Given the description of an element on the screen output the (x, y) to click on. 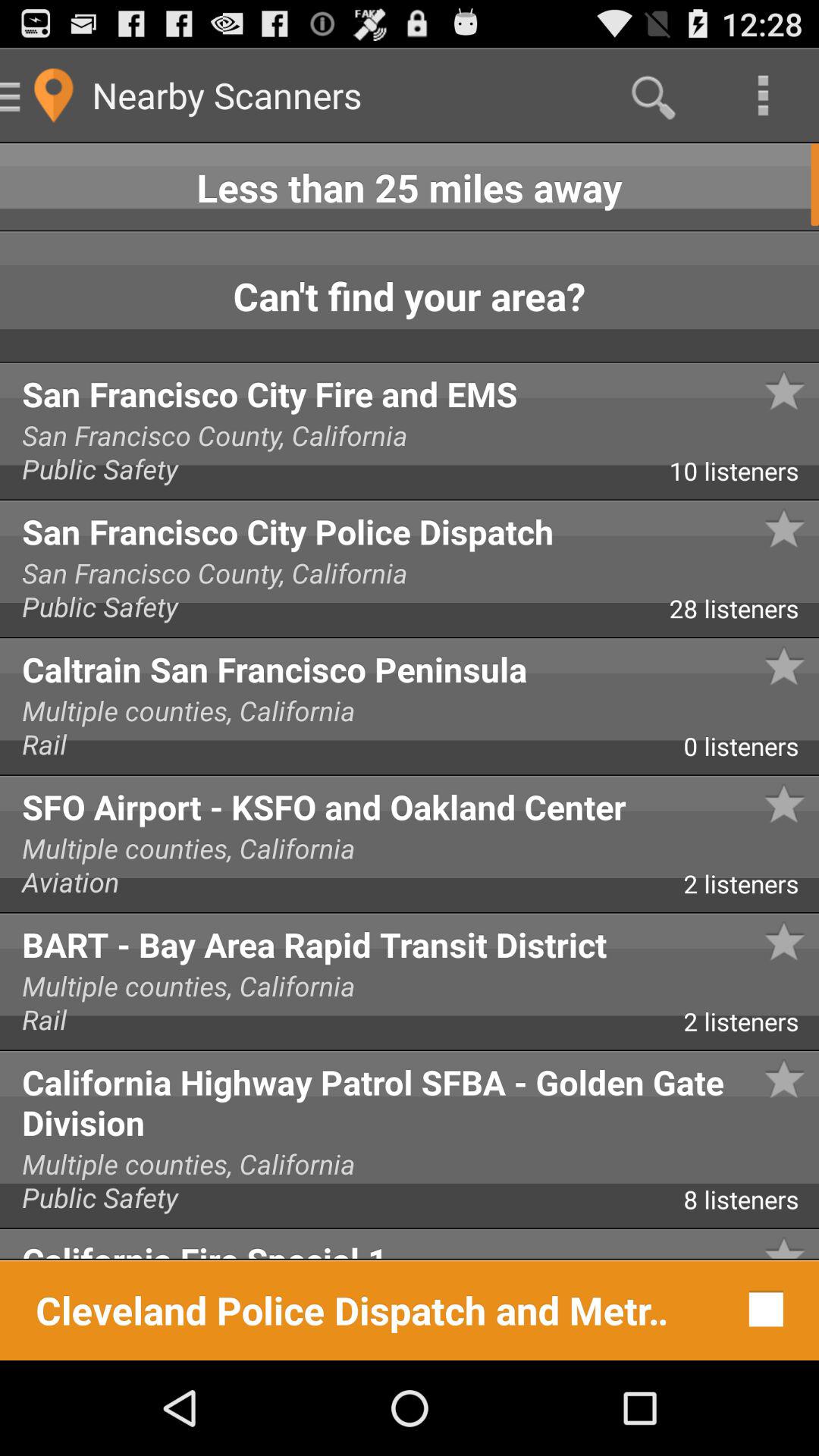
launch the item to the left of the 2 listeners (341, 887)
